Given the description of an element on the screen output the (x, y) to click on. 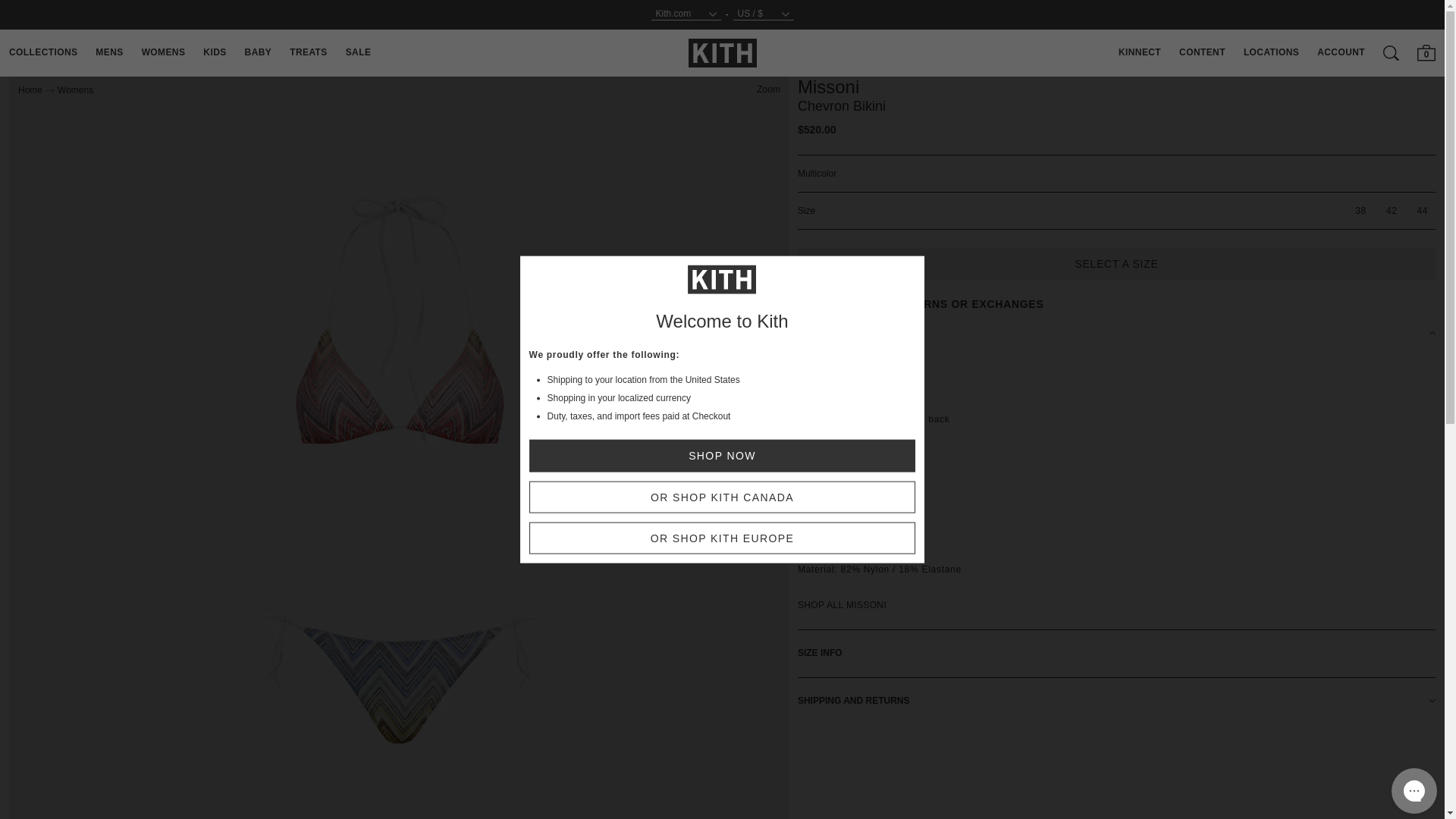
KITH LOGO (722, 52)
Kith (722, 52)
